Given the description of an element on the screen output the (x, y) to click on. 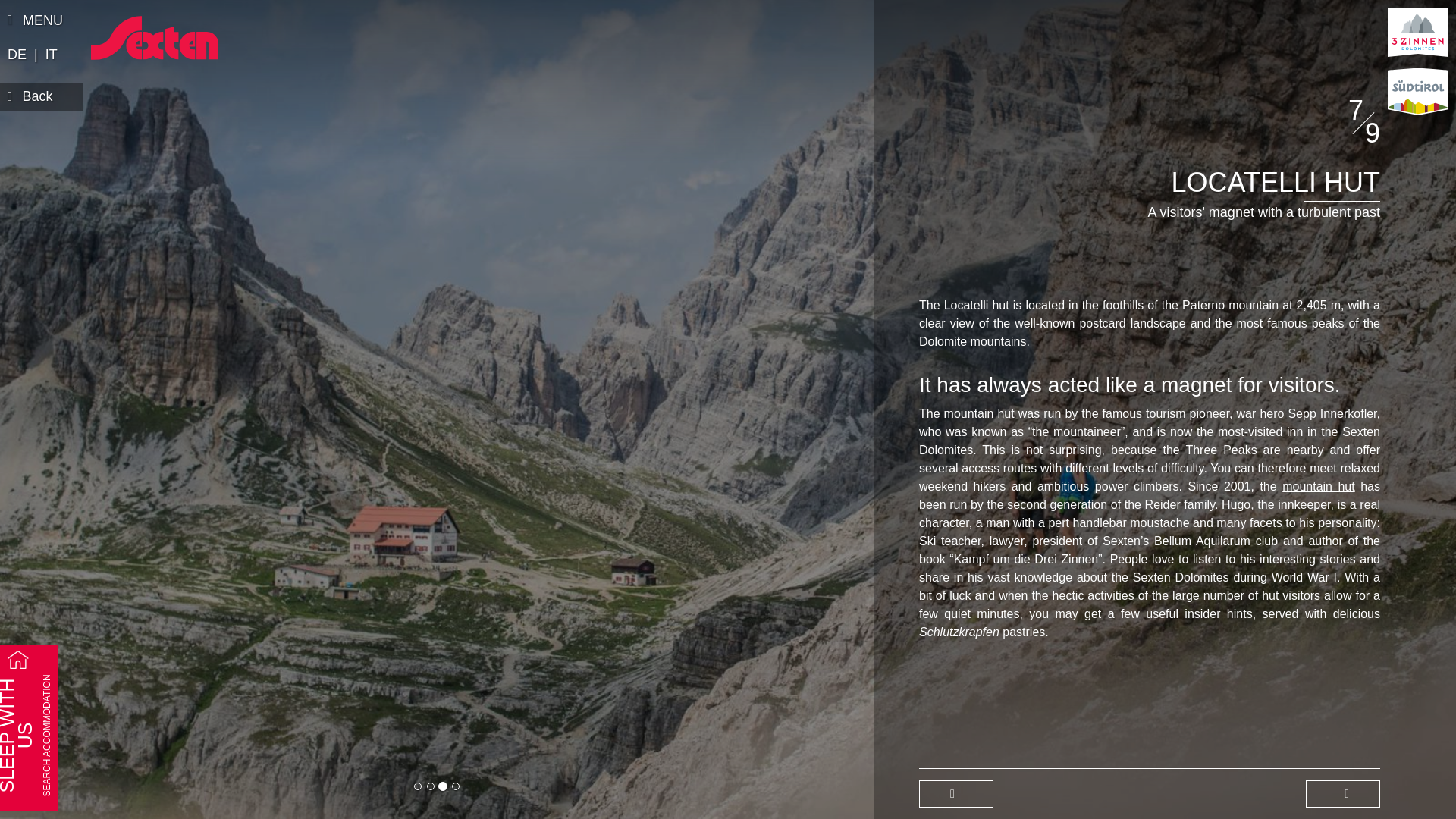
MENU (39, 21)
Back (41, 96)
